Given the description of an element on the screen output the (x, y) to click on. 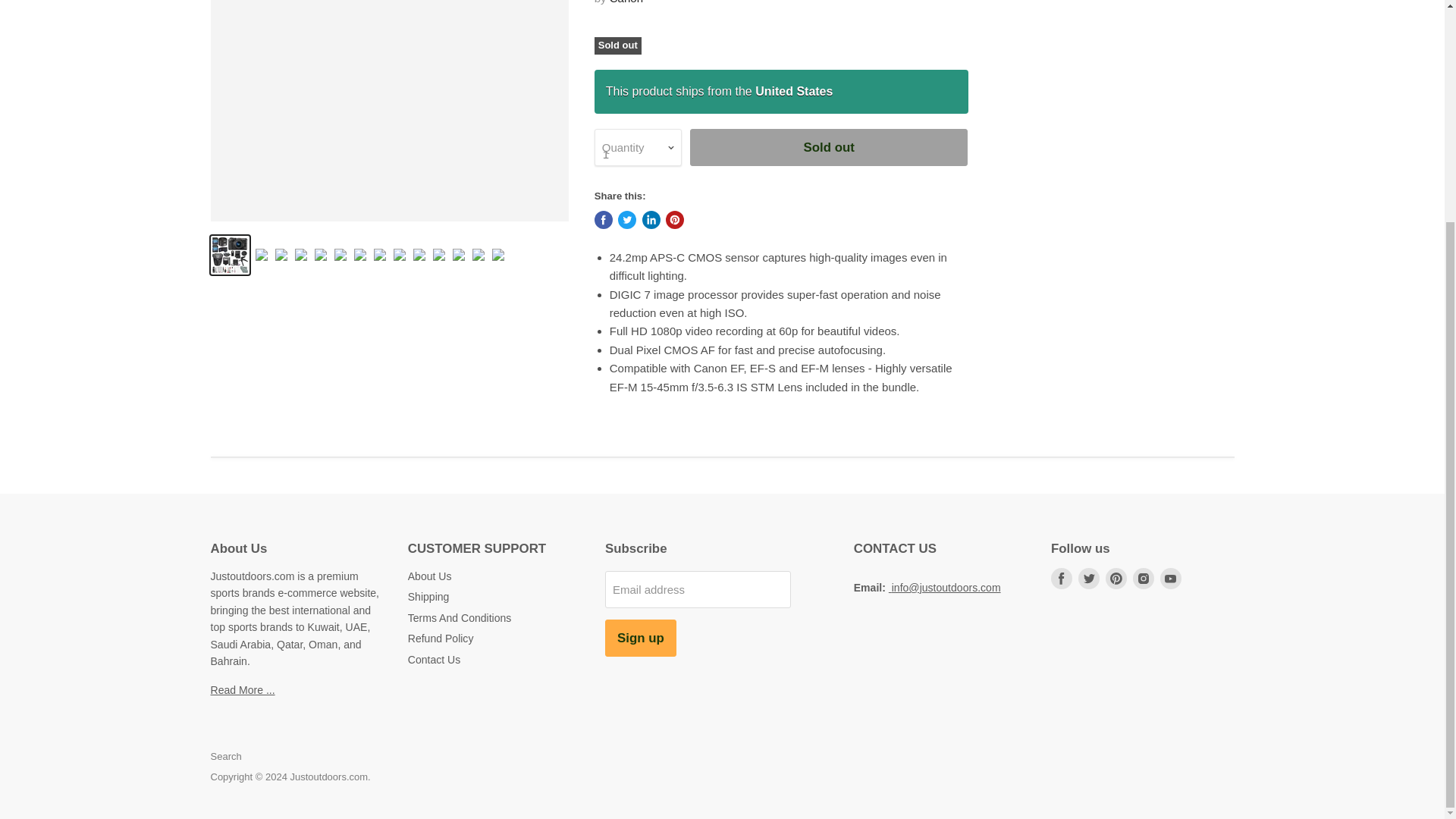
Pinterest (1115, 578)
Youtube (1171, 578)
Share on LinkedIn (651, 219)
Shipping (428, 596)
Facebook (1061, 578)
Terms And Conditions (459, 617)
Canon (626, 2)
Sold out (829, 147)
Read More ... (243, 689)
Refund Policy (440, 638)
Tweet on Twitter (626, 219)
About Us (429, 576)
Instagram (1143, 578)
Pin on Pinterest (674, 219)
Canon (626, 2)
